Given the description of an element on the screen output the (x, y) to click on. 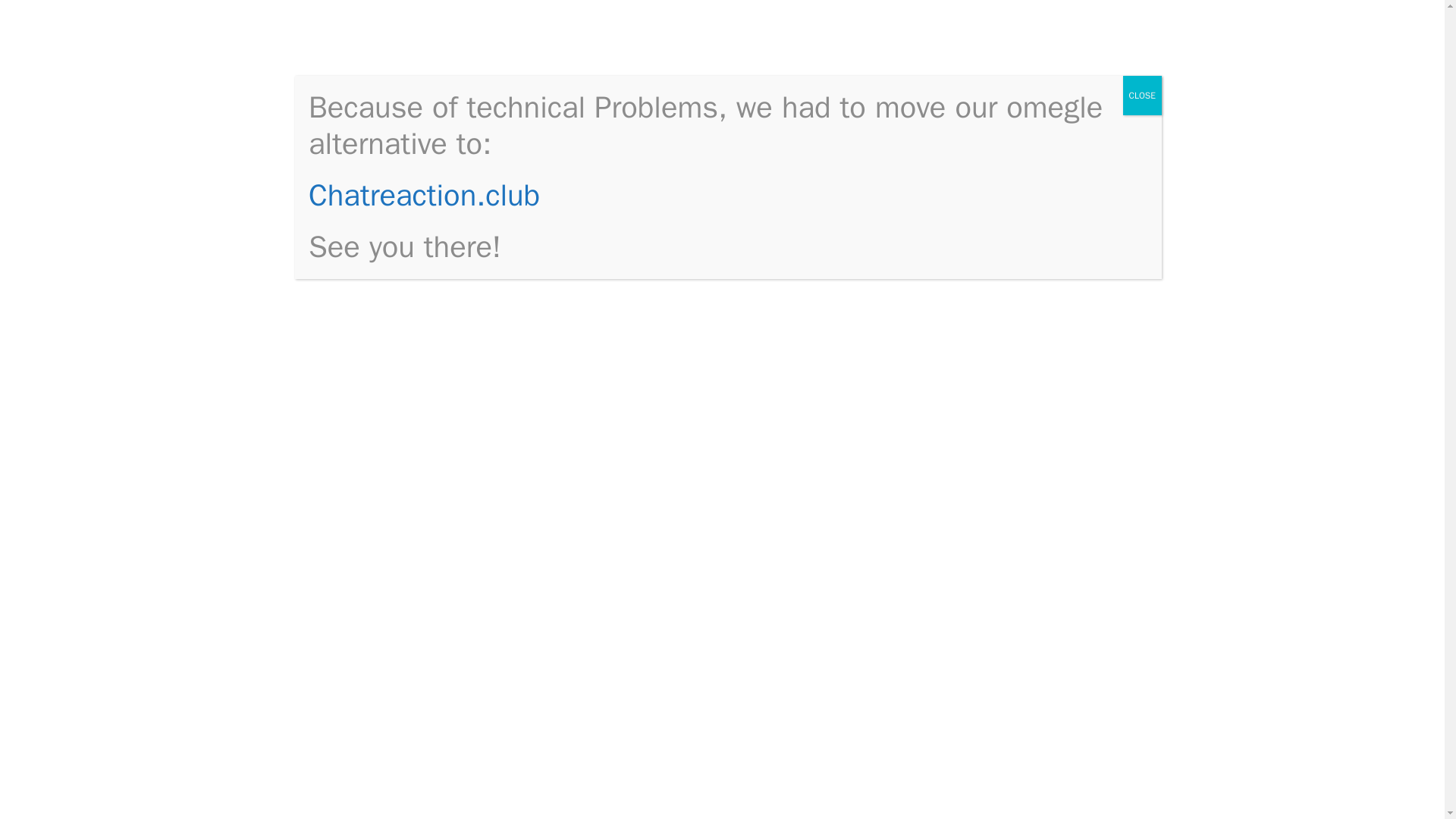
08.08.2010 (364, 213)
CLOSE (1141, 95)
Chat rooms with profiles (410, 695)
Mocospace chat (1007, 242)
Free chat room.com (1017, 288)
Hardly (440, 579)
Www free live chat com (1026, 218)
17:40 (364, 213)
coolest webcams (433, 50)
assault (788, 618)
Chat rooms with profiles (1029, 524)
Chatreaction.club (424, 195)
Ruletka video chat (1012, 548)
Chatroulette girl porn (1020, 311)
